Given the description of an element on the screen output the (x, y) to click on. 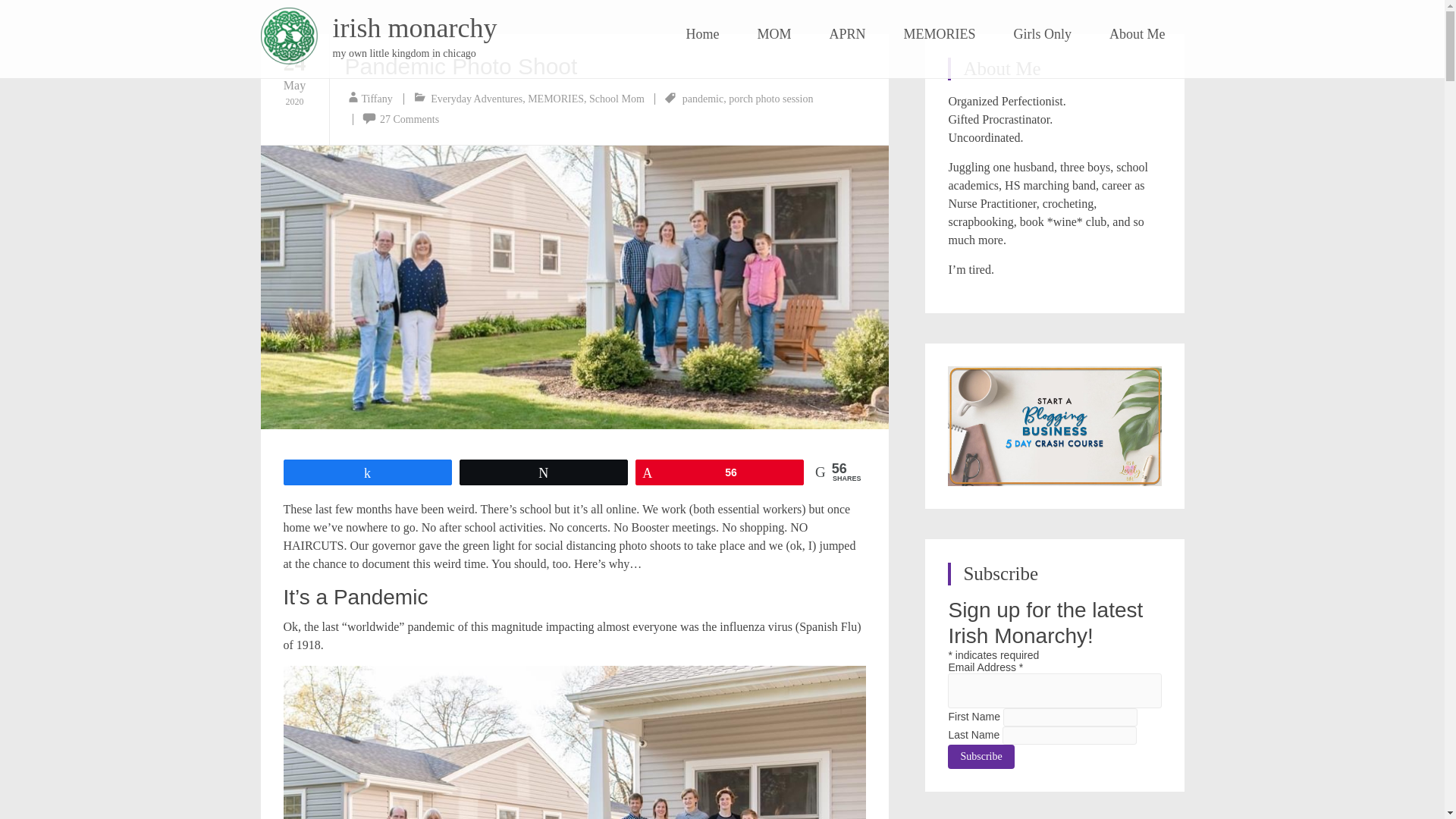
About Me (1137, 33)
MOM (773, 33)
MEMORIES (938, 33)
Home (702, 33)
APRN (846, 33)
irish monarchy (413, 28)
20:28 (294, 78)
School Mom (617, 98)
pandemic (702, 98)
